Given the description of an element on the screen output the (x, y) to click on. 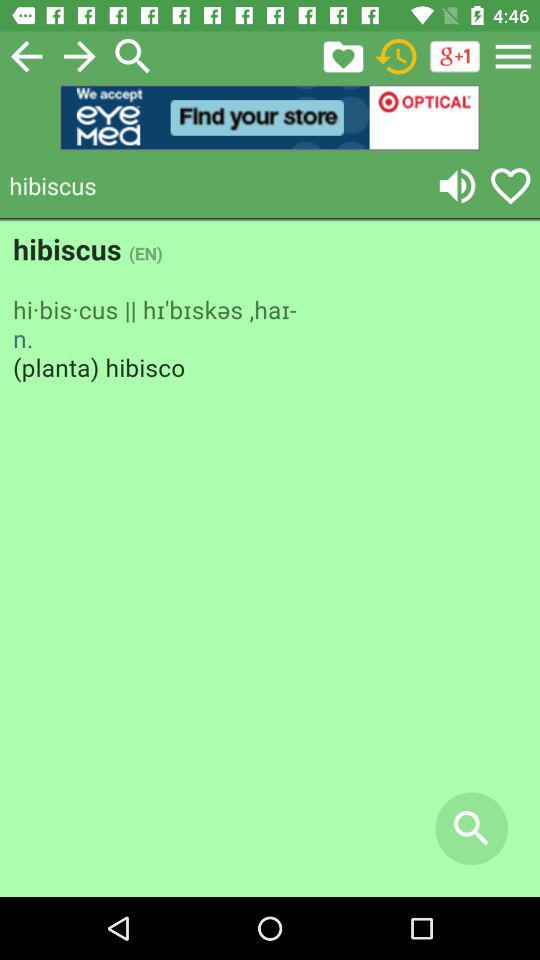
add to favorite (343, 56)
